Given the description of an element on the screen output the (x, y) to click on. 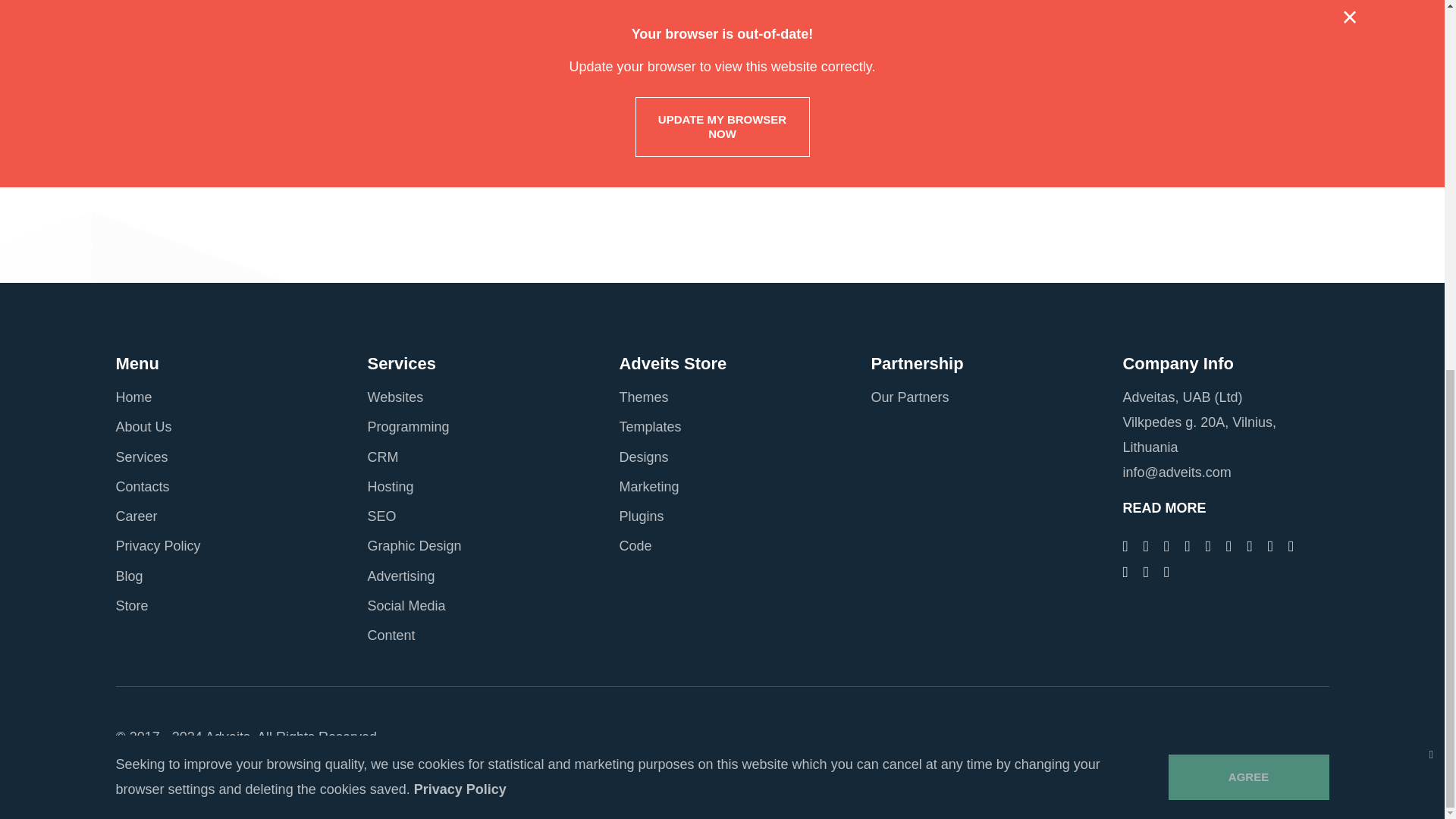
Home (133, 396)
About Us (143, 426)
Services (141, 456)
Website (189, 124)
Social Media (203, 94)
Contacts (141, 486)
hosting (186, 35)
SEO (178, 64)
Graphic design (210, 6)
